Given the description of an element on the screen output the (x, y) to click on. 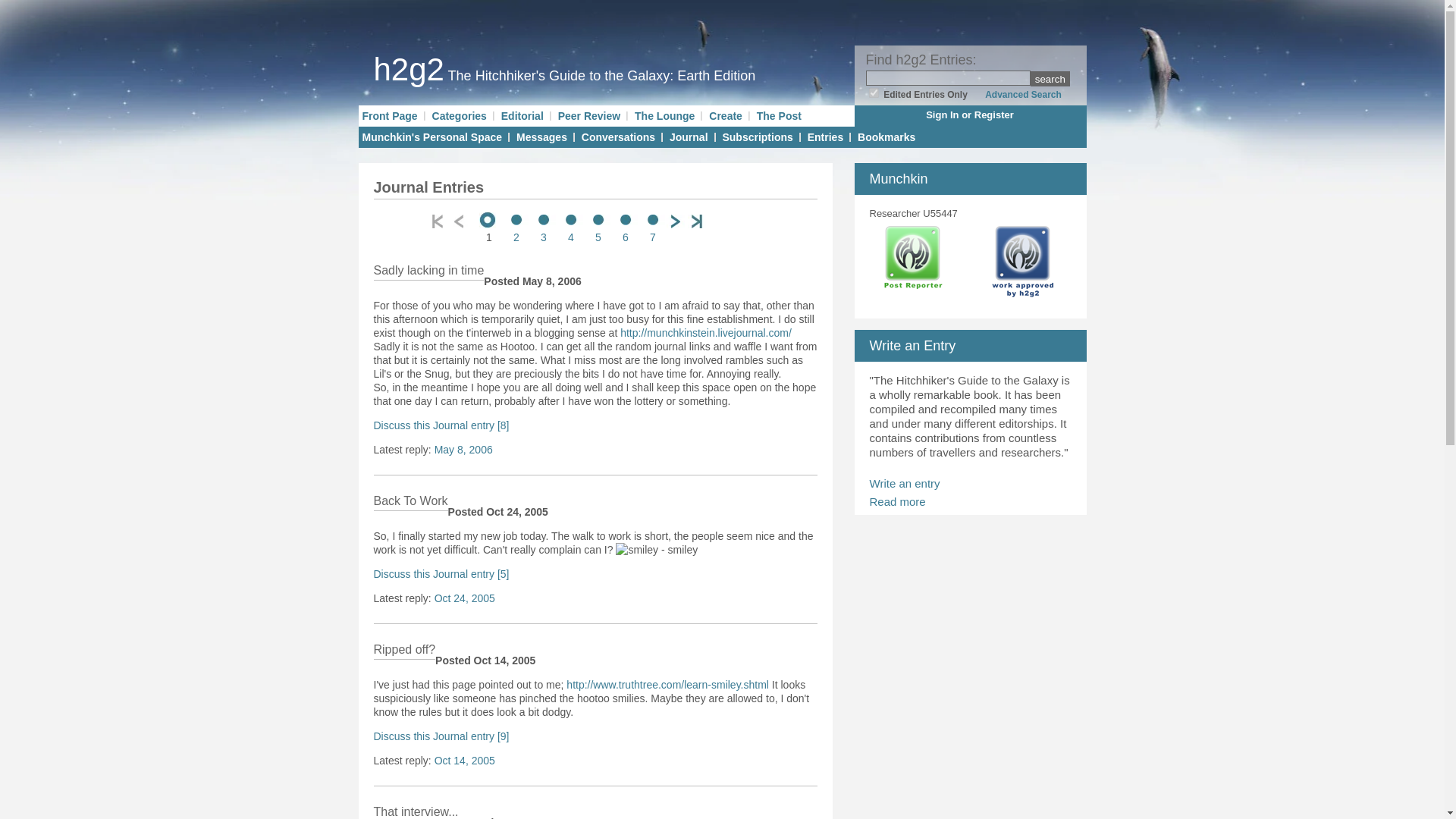
6 (625, 229)
Post Reporter (912, 262)
Volunteers (912, 296)
Munchkin's Personal Space (432, 137)
Create (725, 115)
search (1050, 78)
May 8, 2006 (463, 449)
Write an entry (904, 482)
7 (652, 229)
search (1050, 78)
